Given the description of an element on the screen output the (x, y) to click on. 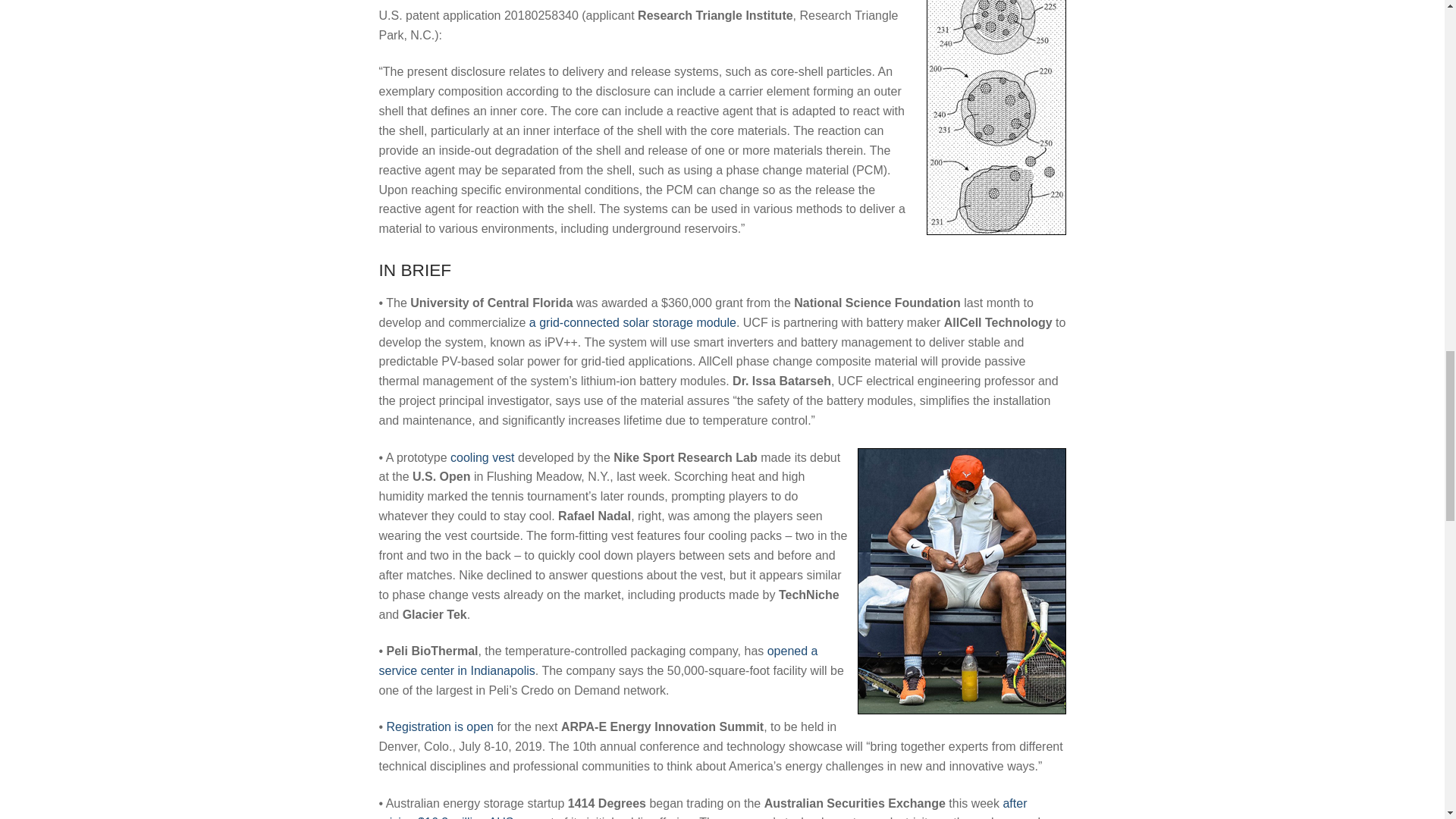
a grid-connected solar storage module (632, 322)
cooling vest (482, 457)
opened a service center in Indianapolis (598, 660)
Registration is open (440, 726)
